Given the description of an element on the screen output the (x, y) to click on. 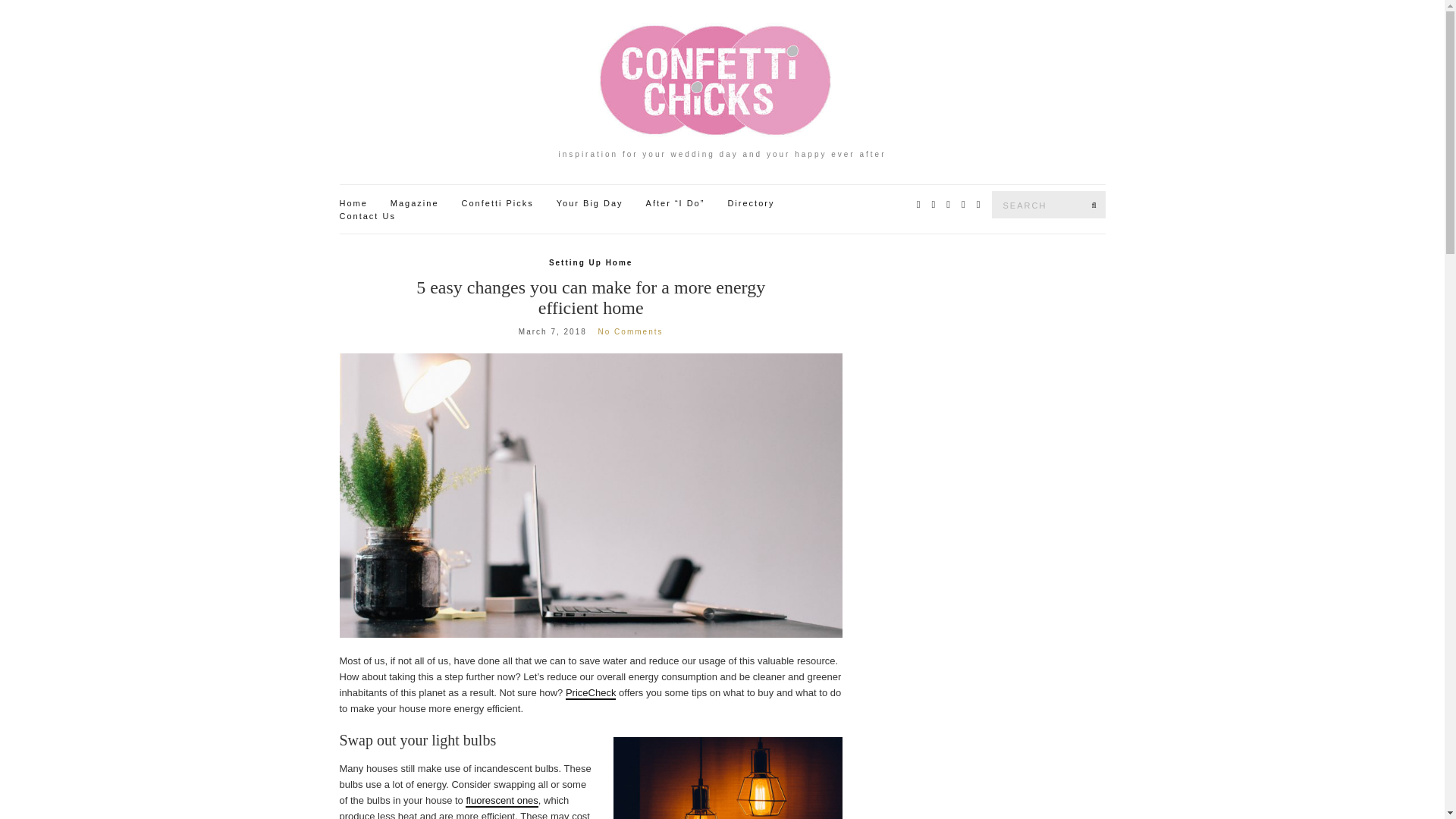
Home (353, 203)
Confetti Picks (497, 203)
Contact Us (367, 216)
Your Big Day (589, 203)
PriceCheck (590, 693)
Setting Up Home (590, 263)
No Comments (630, 331)
Directory (750, 203)
Magazine (414, 203)
